Given the description of an element on the screen output the (x, y) to click on. 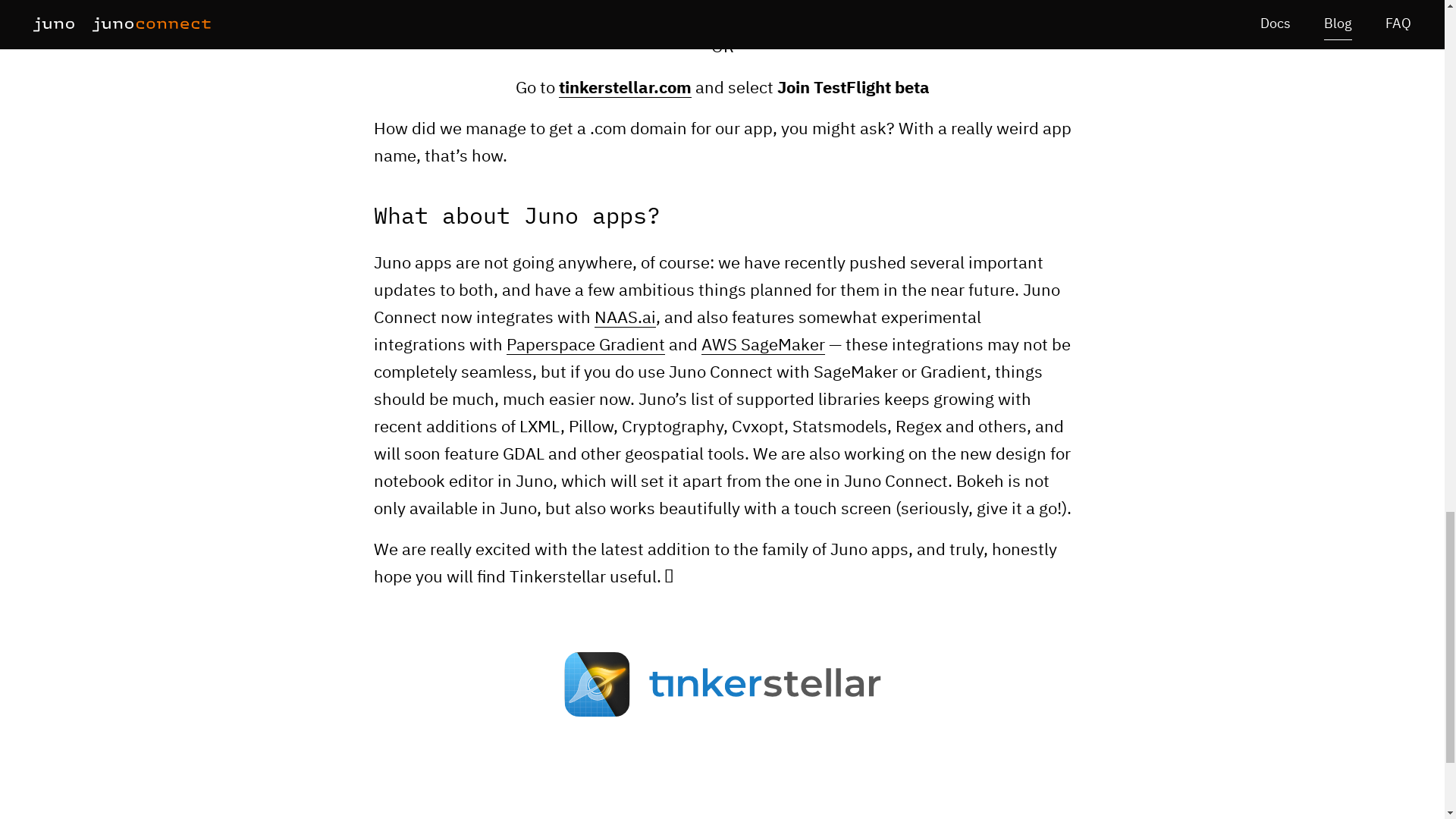
AWS SageMaker (762, 345)
tinkerstellar.com (623, 88)
Paperspace Gradient (585, 345)
NAAS.ai (625, 318)
